Given the description of an element on the screen output the (x, y) to click on. 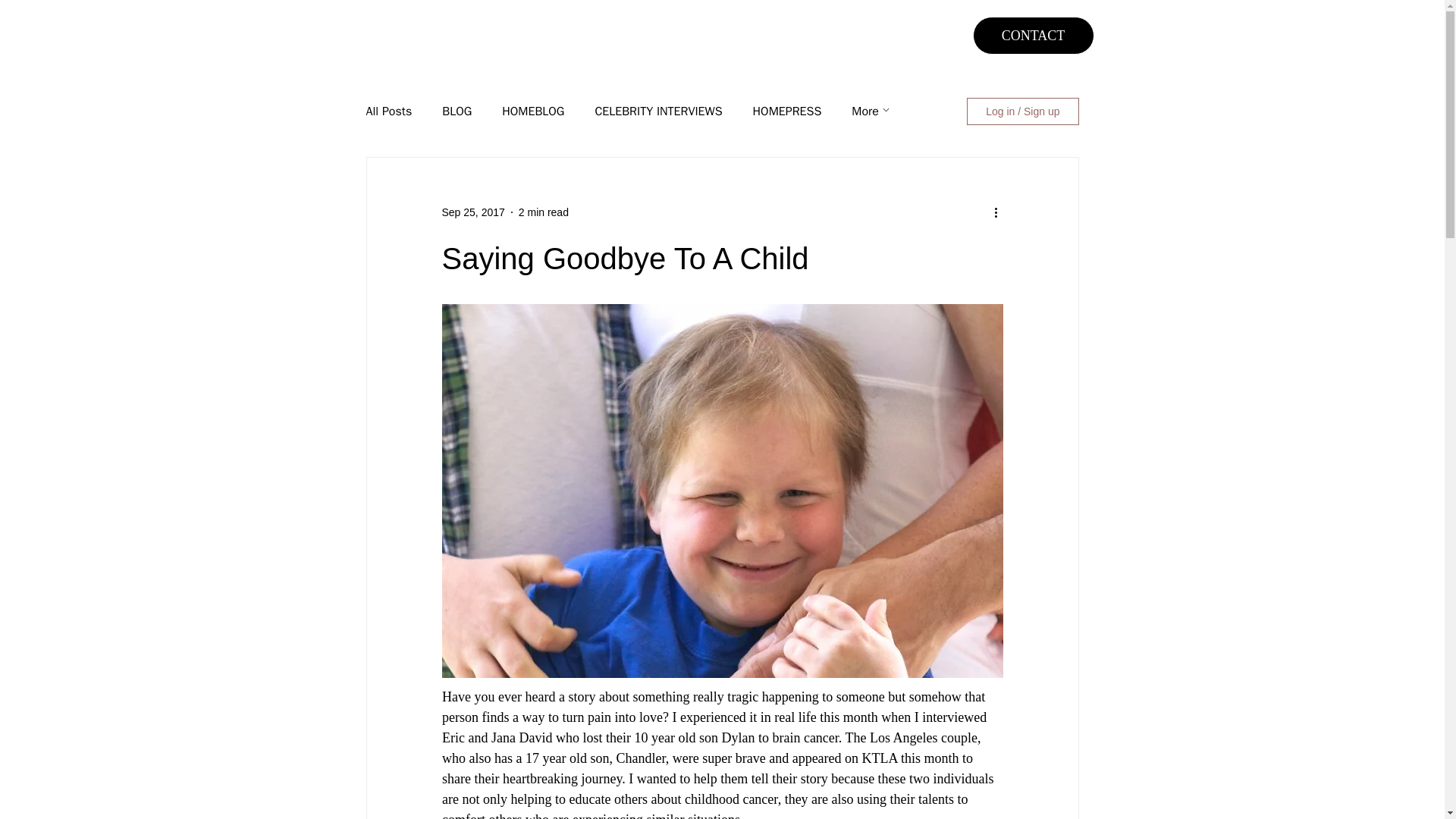
HOMEBLOG (533, 110)
CONTACT (1032, 35)
2 min read (543, 212)
HOME (383, 33)
CELEBRITY INTERVIEWS (658, 110)
ABOUT (459, 33)
All Posts (388, 110)
BLOG (456, 110)
Sep 25, 2017 (472, 212)
PRESS (535, 33)
HOMEPRESS (787, 110)
